Given the description of an element on the screen output the (x, y) to click on. 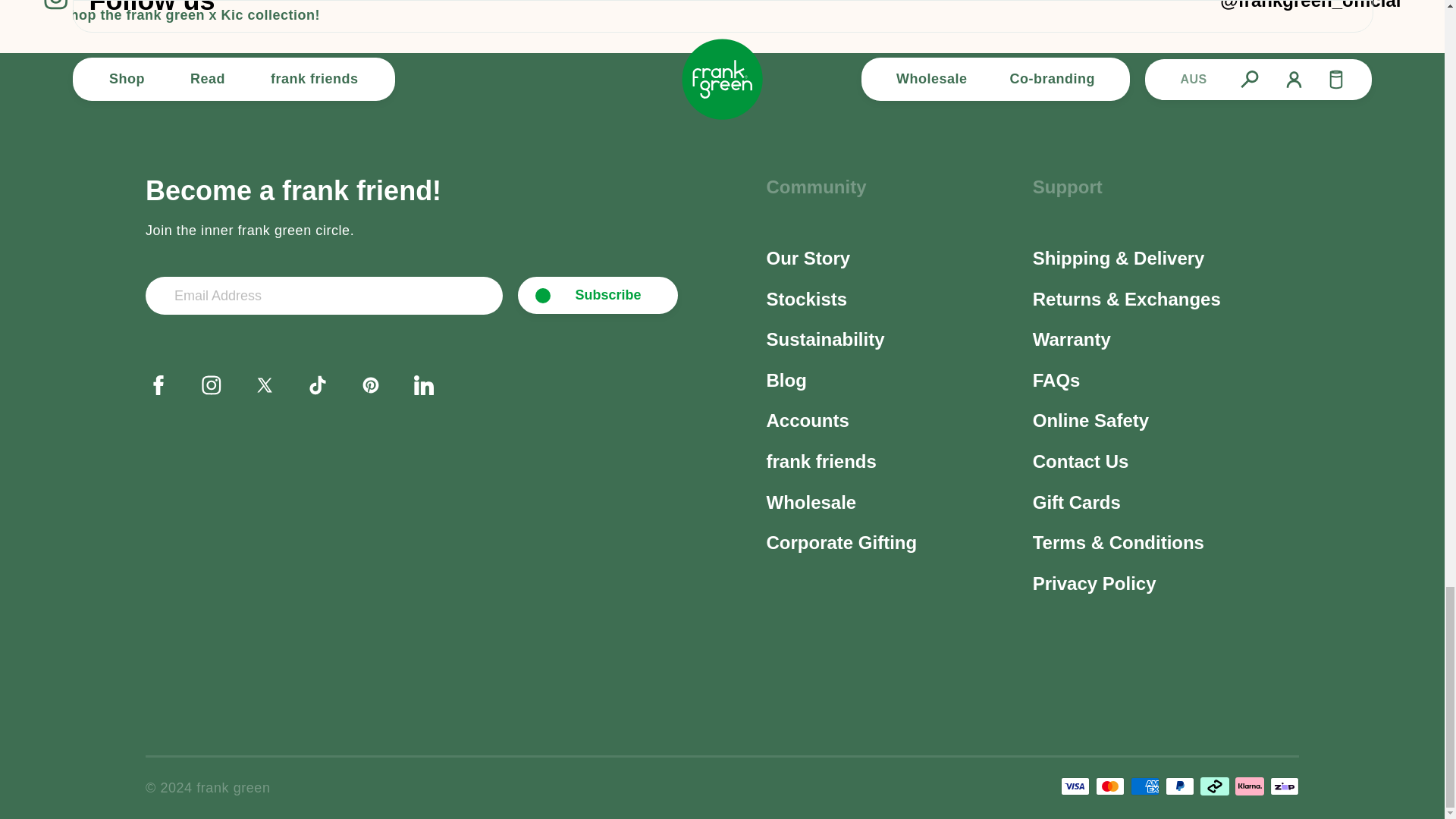
Afterpay (1213, 786)
Mastercard (1110, 786)
PayPal (1179, 786)
Visa (1075, 786)
Zip (1283, 786)
American Express (1144, 786)
Klarna (1248, 786)
